Given the description of an element on the screen output the (x, y) to click on. 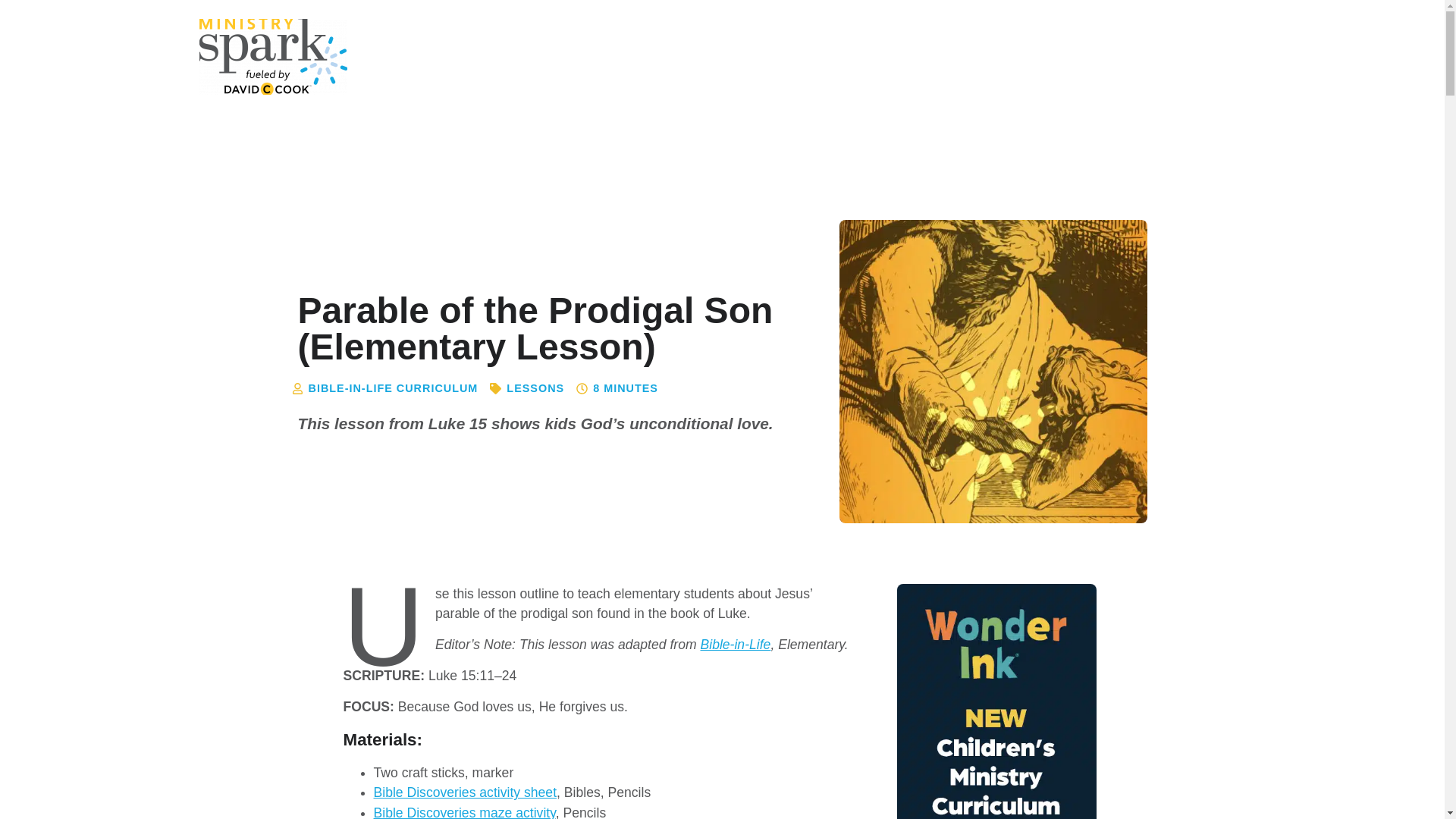
cropped-ministry-spark-logo-by-DCC-color-900px.png (272, 56)
